Given the description of an element on the screen output the (x, y) to click on. 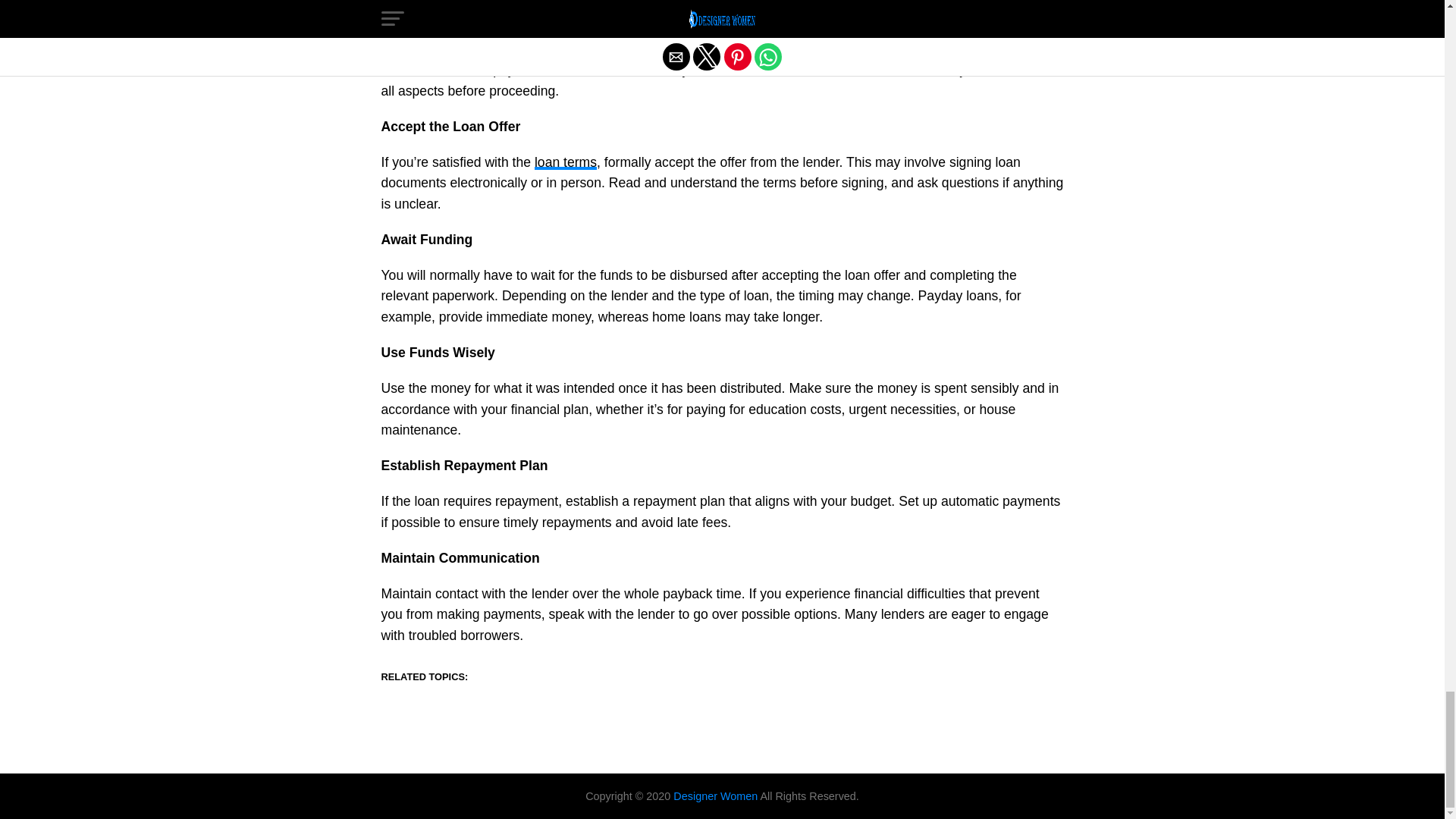
loan terms (565, 161)
Designer Women (716, 796)
